Given the description of an element on the screen output the (x, y) to click on. 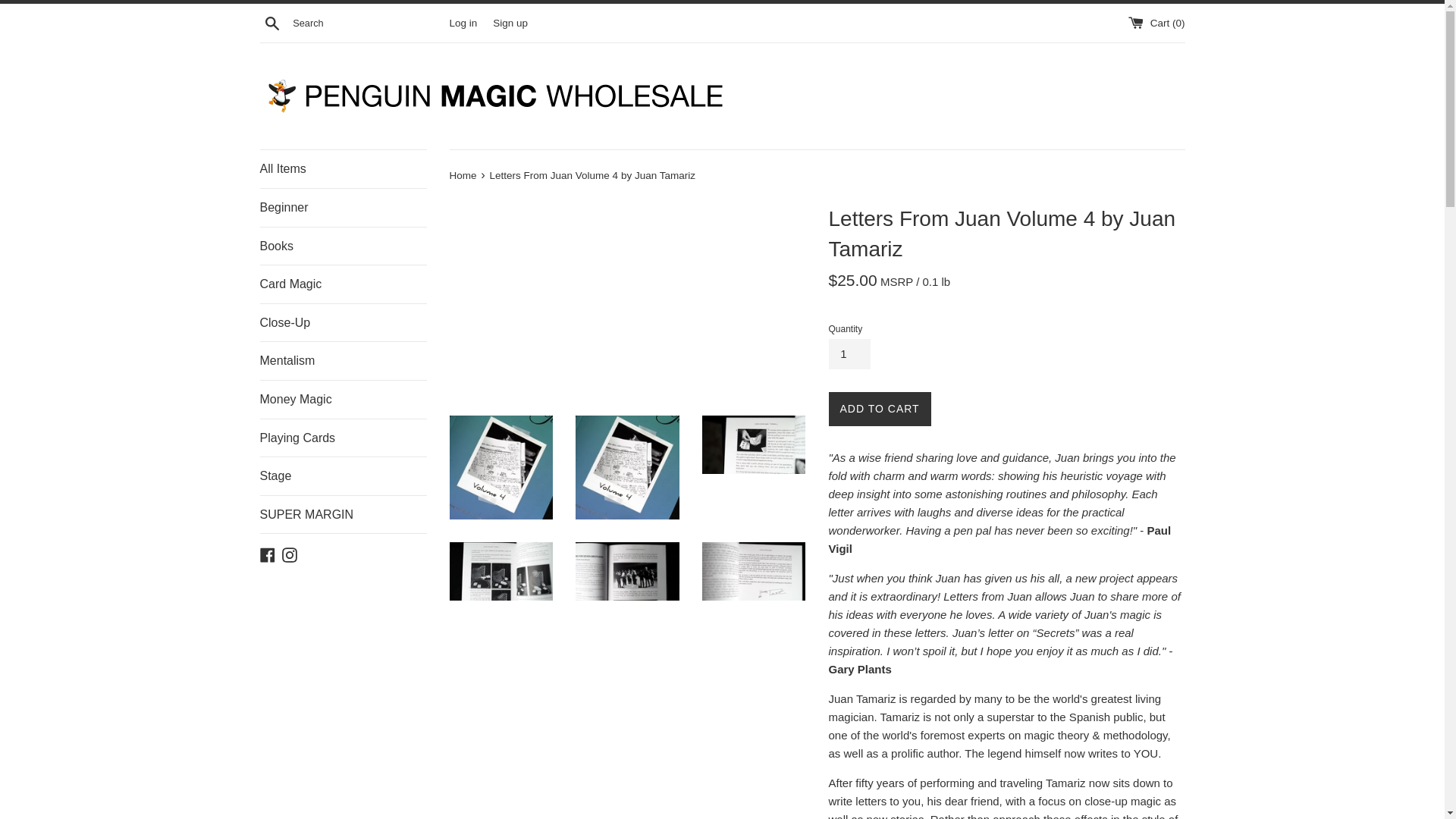
Facebook (267, 553)
ADD TO CART (879, 408)
Log in (462, 21)
Search (271, 21)
Close-Up (342, 322)
SUPER MARGIN (342, 514)
Playing Cards (342, 438)
Mentalism (342, 361)
1 (848, 354)
All Items (342, 168)
